Given the description of an element on the screen output the (x, y) to click on. 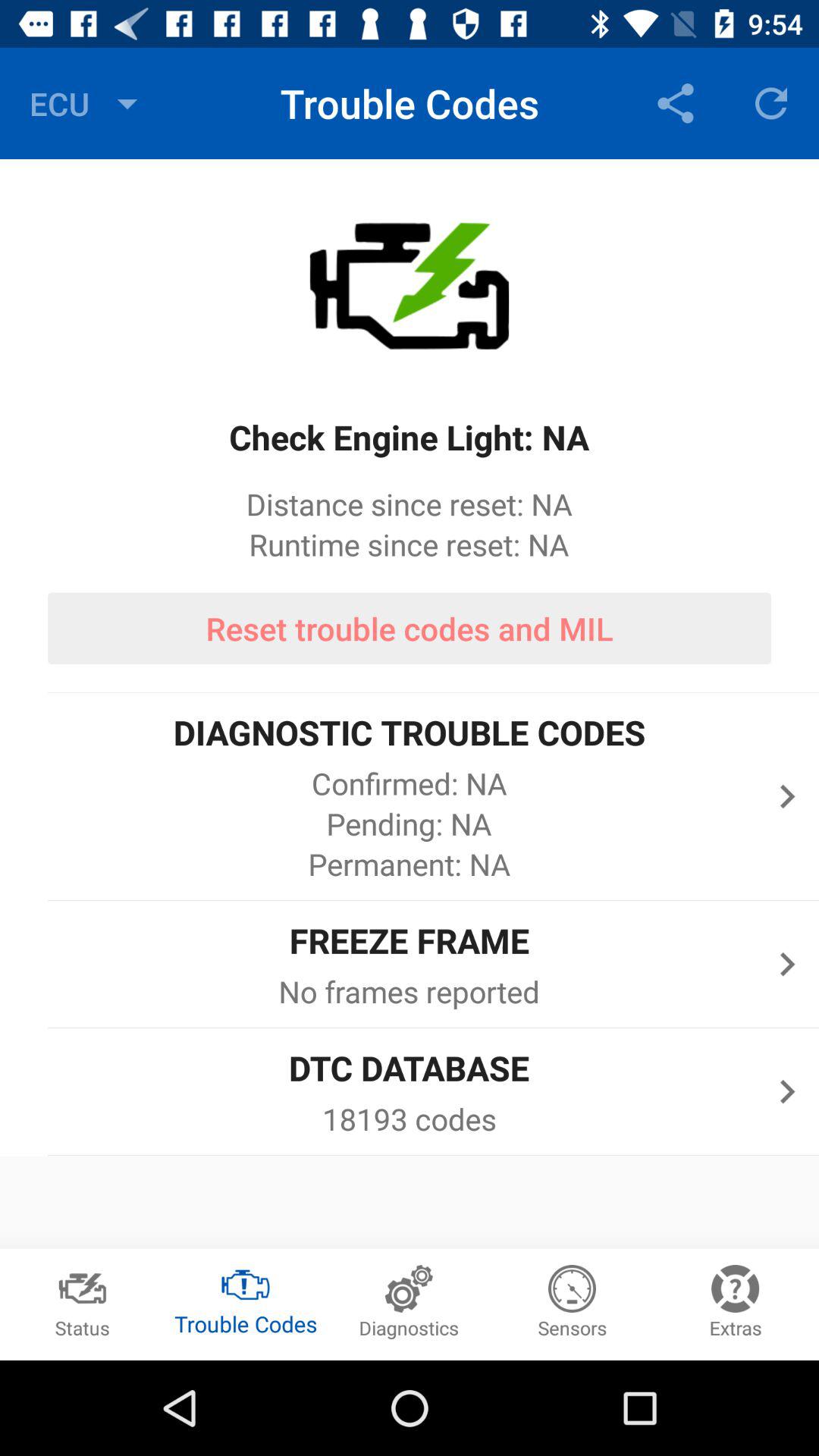
select the icon to the left of the trouble codes item (87, 103)
